Given the description of an element on the screen output the (x, y) to click on. 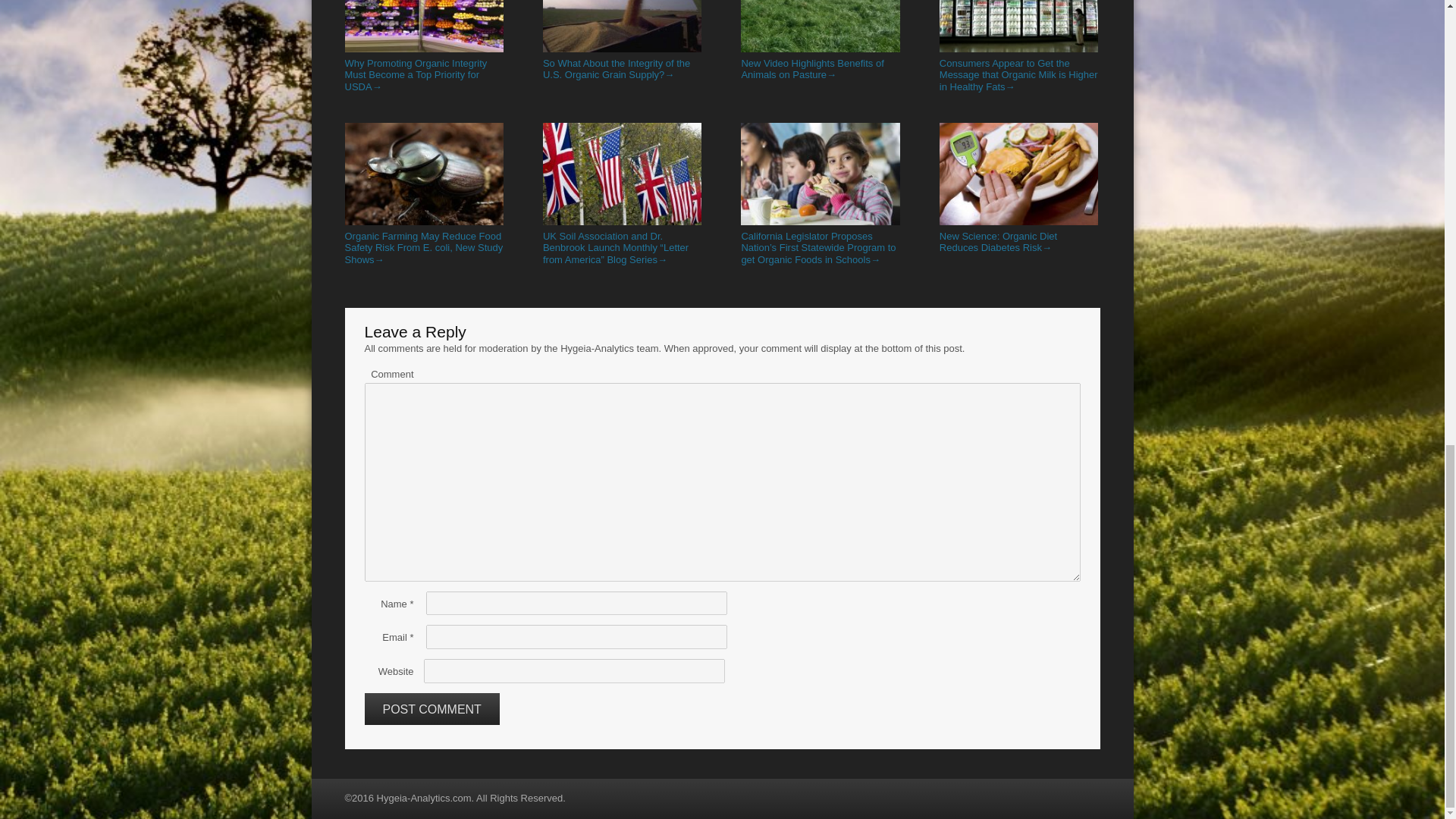
Post Comment (431, 708)
